Given the description of an element on the screen output the (x, y) to click on. 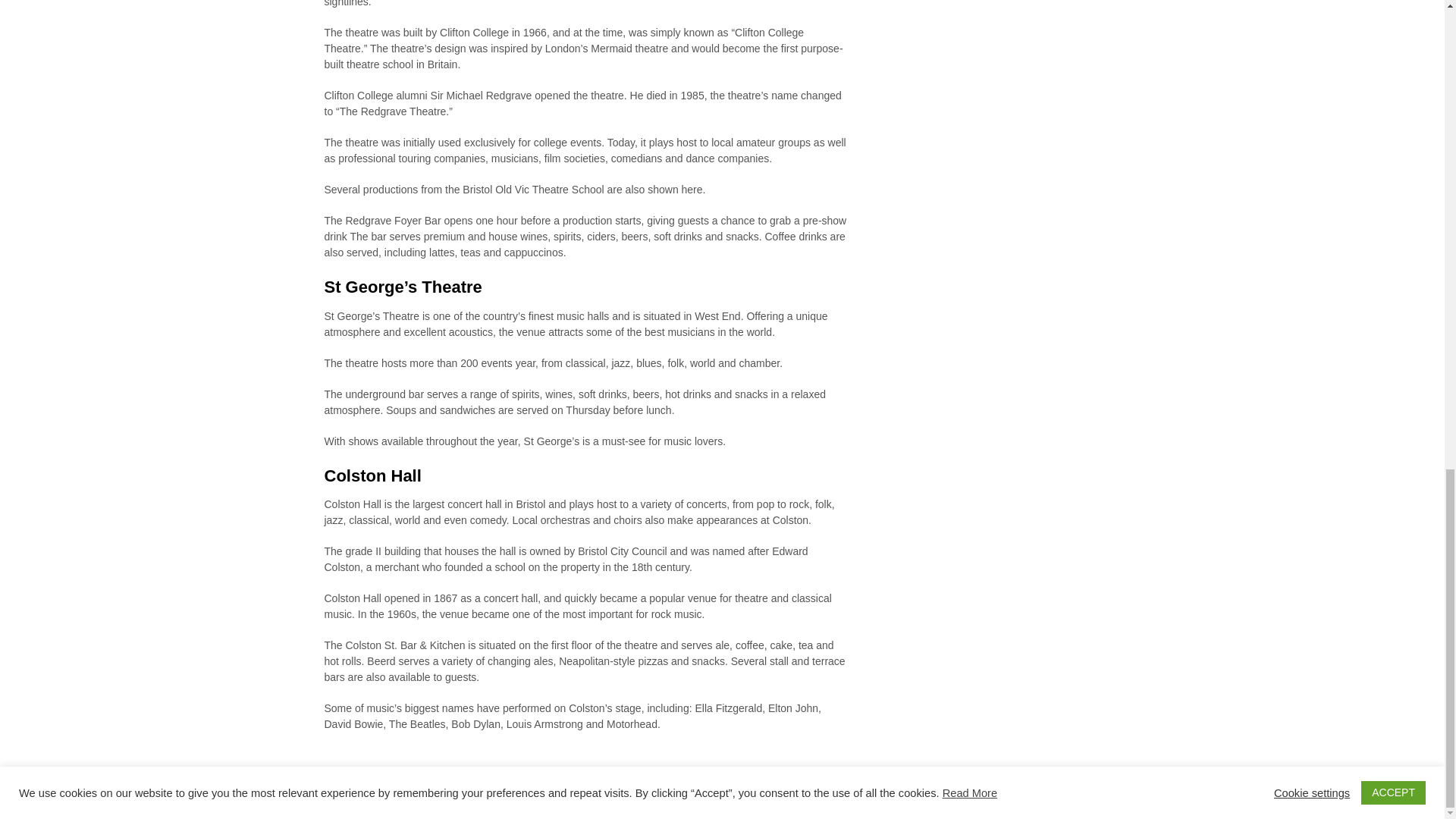
Superb WordPress Themes (630, 802)
